Given the description of an element on the screen output the (x, y) to click on. 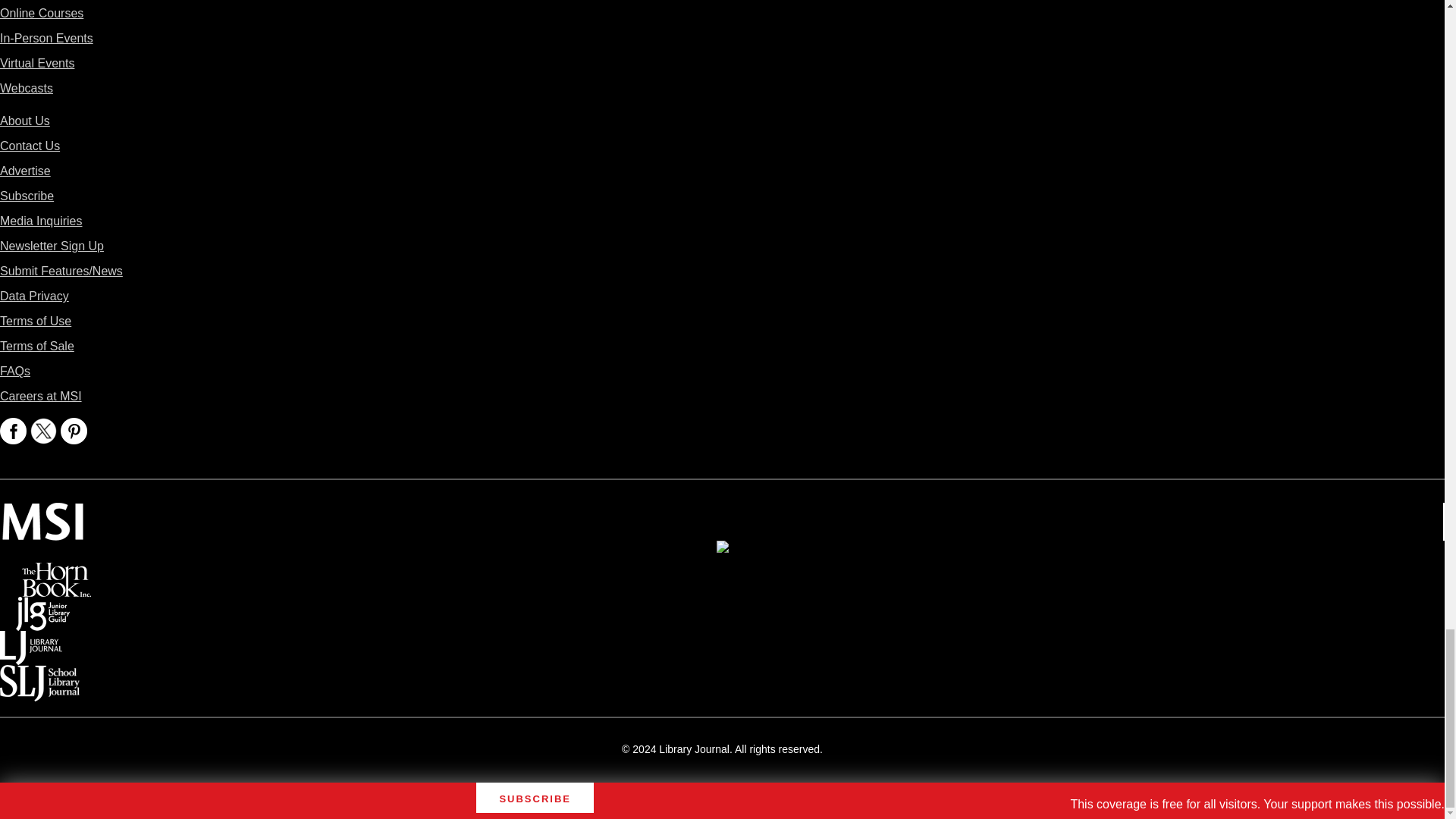
AKJ (722, 550)
School Library Journal (40, 675)
The Horn Book (56, 572)
Media Source Incorporated (42, 513)
Junior Library Guild (42, 607)
